Given the description of an element on the screen output the (x, y) to click on. 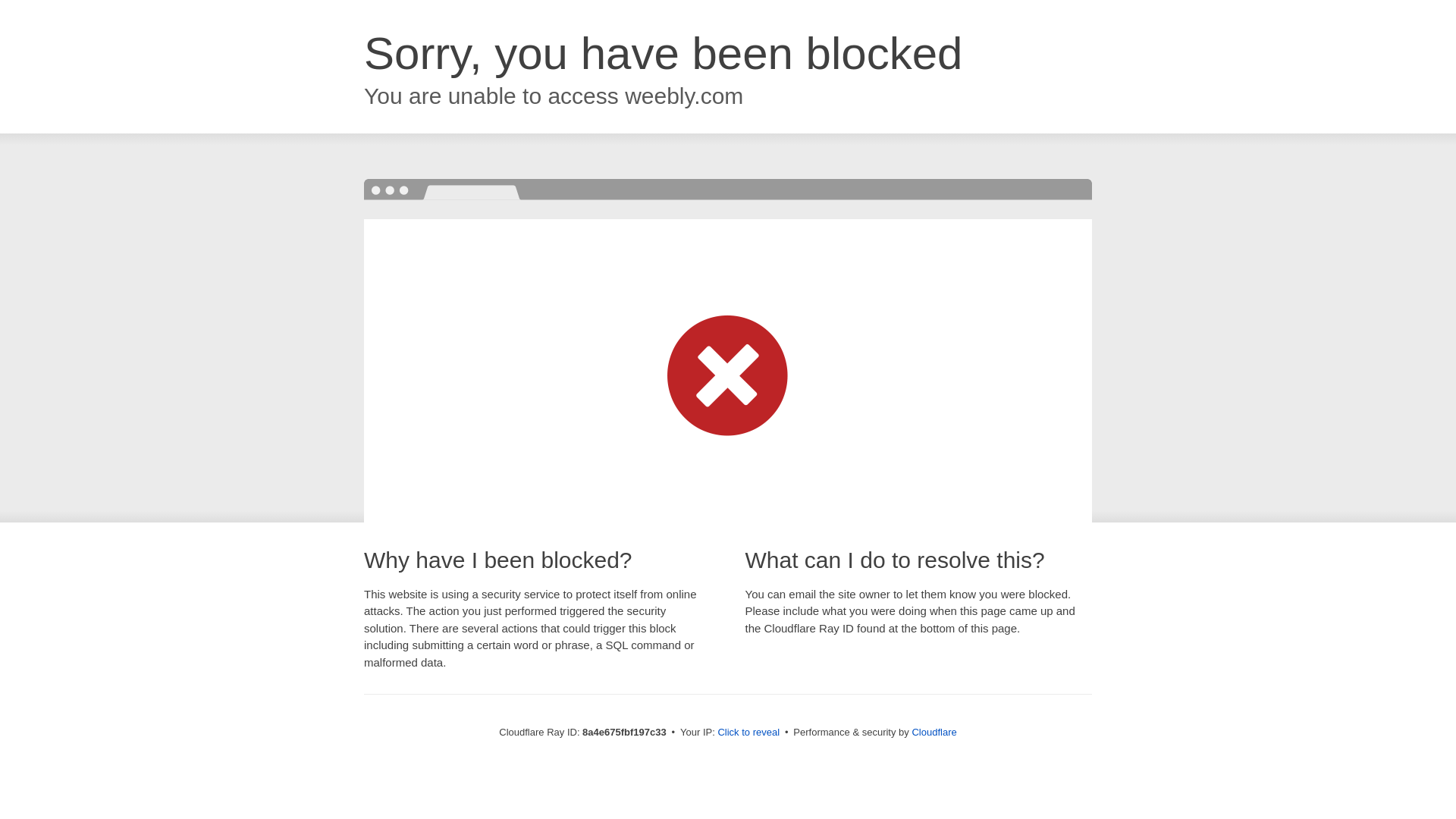
Click to reveal (747, 732)
Cloudflare (933, 731)
